Given the description of an element on the screen output the (x, y) to click on. 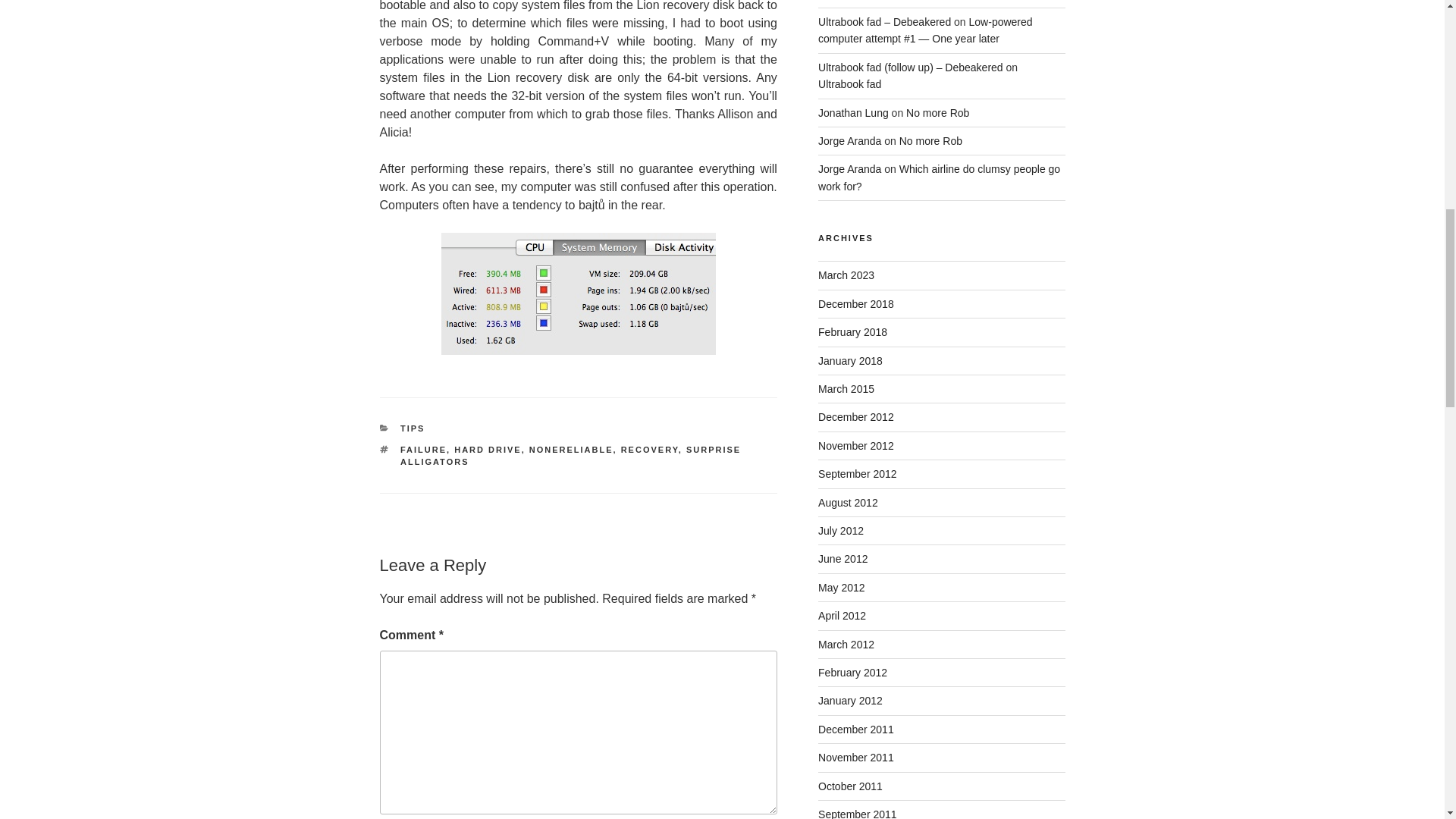
RECOVERY (649, 449)
No more Rob (930, 141)
Jorge Aranda (849, 168)
NONERELIABLE (570, 449)
December 2018 (855, 304)
Ultrabook fad (849, 83)
January 2018 (850, 360)
March 2015 (846, 388)
Jonathan Lung (853, 112)
HARD DRIVE (487, 449)
February 2018 (852, 331)
No more Rob (937, 112)
SURPRISE ALLIGATORS (570, 455)
FAILURE (423, 449)
Jorge Aranda (849, 141)
